Given the description of an element on the screen output the (x, y) to click on. 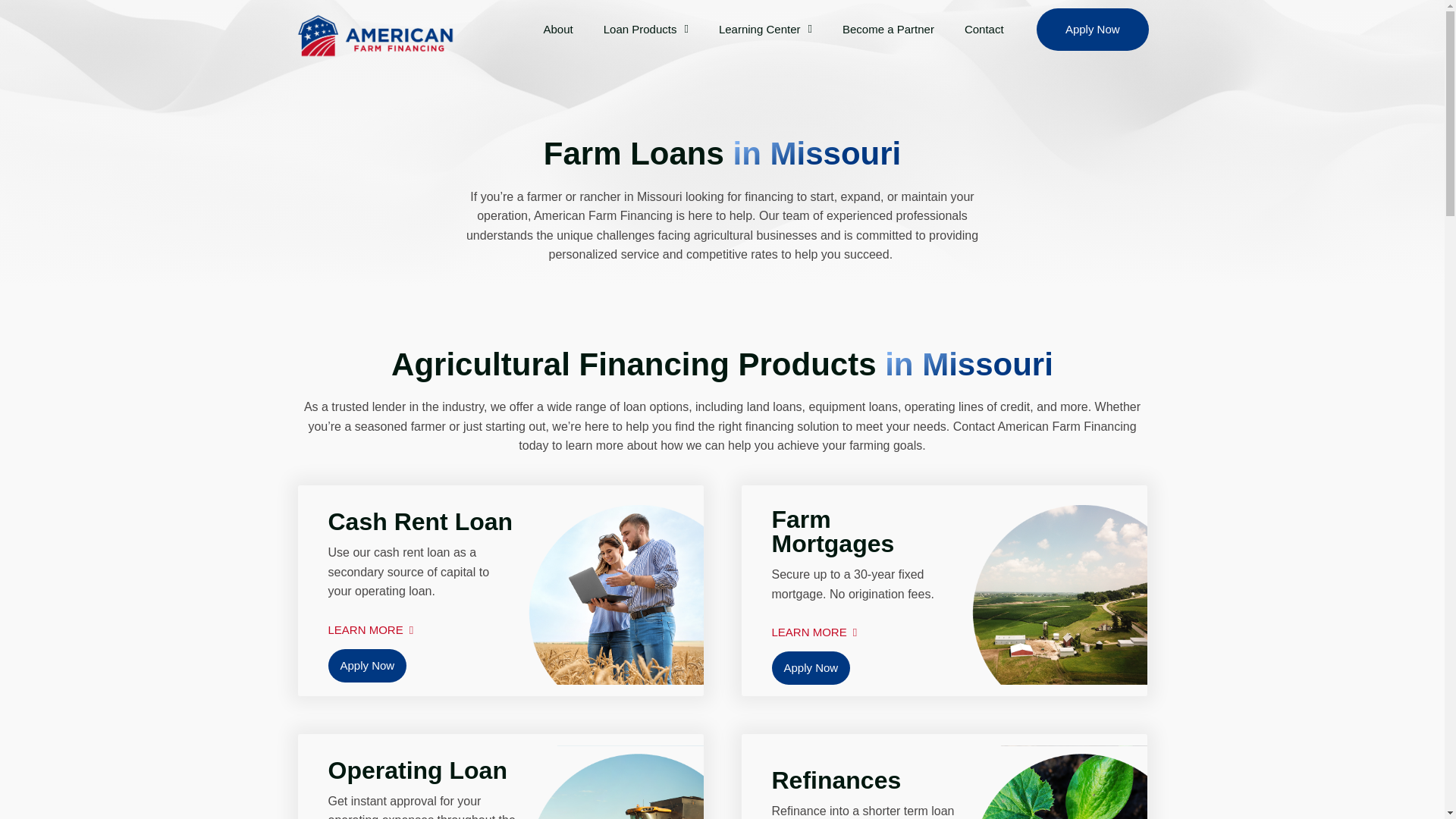
Learning Center (765, 29)
Loan Products (645, 29)
Apply Now (1092, 29)
LEARN MORE (814, 626)
Apply Now (810, 667)
Apply Now (366, 665)
LEARN MORE (370, 624)
Become a Partner (888, 29)
Contact (984, 29)
About (557, 29)
